Given the description of an element on the screen output the (x, y) to click on. 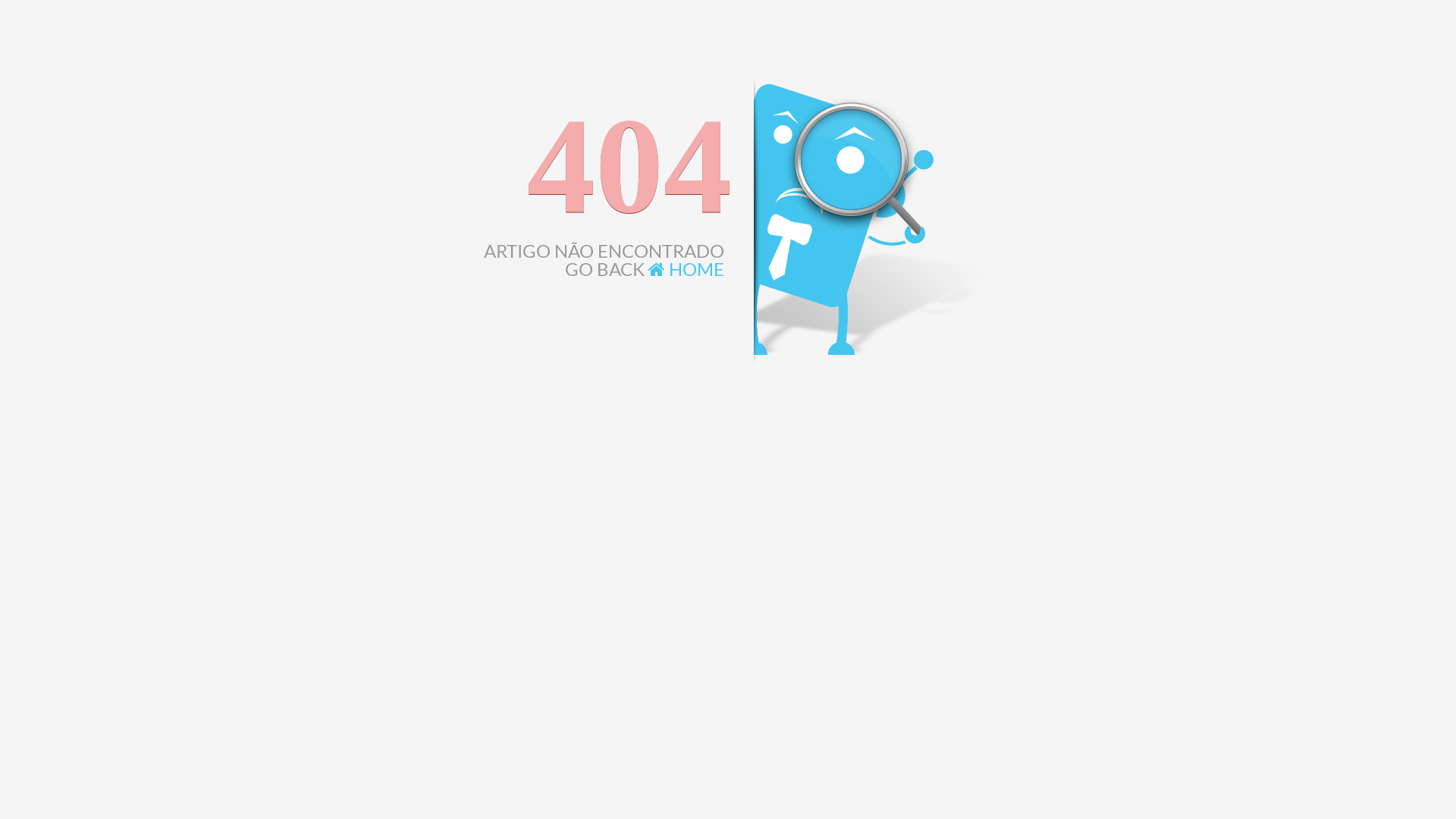
HOME Element type: text (686, 268)
